Given the description of an element on the screen output the (x, y) to click on. 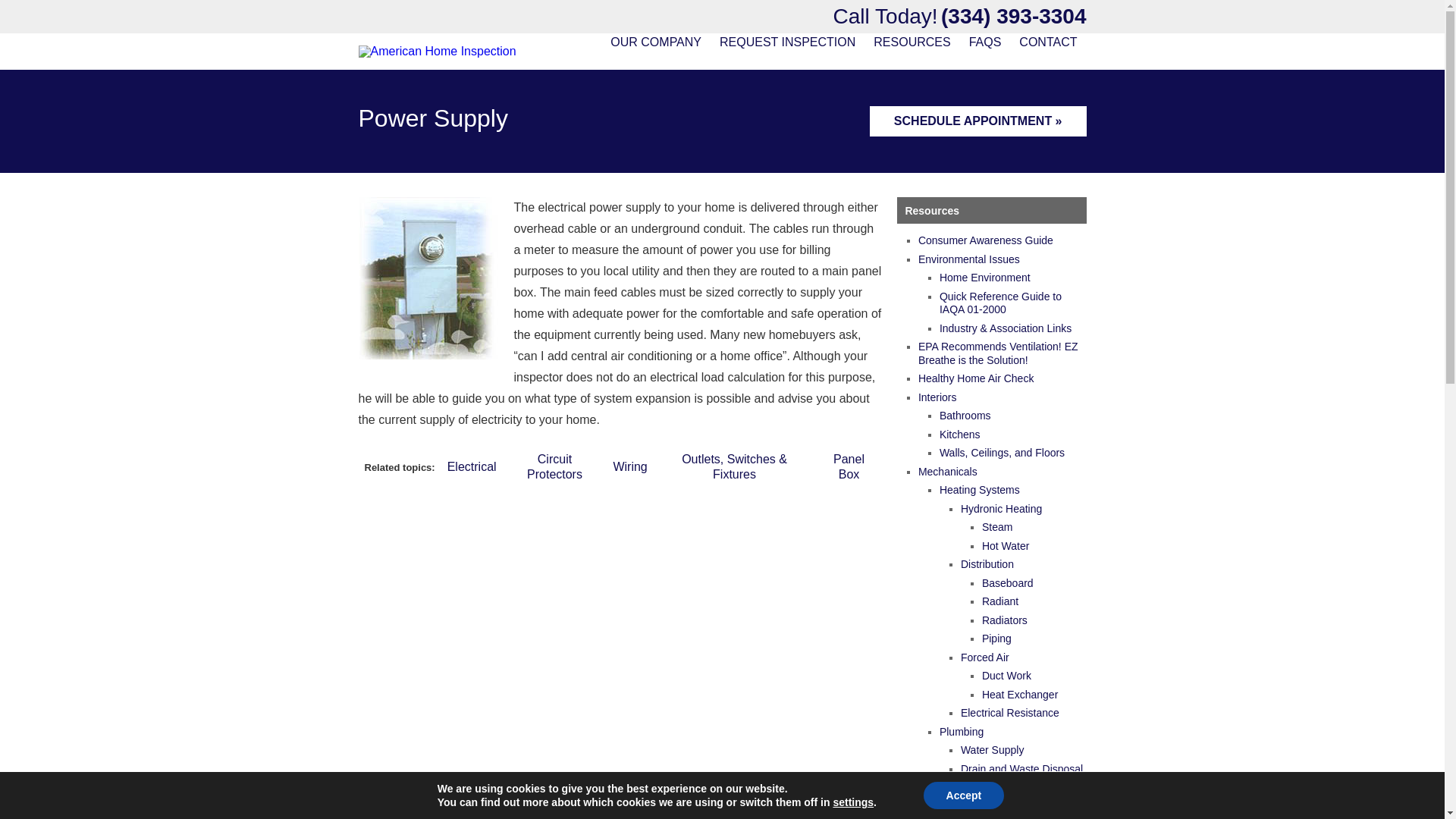
Panel Box (848, 466)
REQUEST INSPECTION (787, 42)
OUR COMPANY (655, 42)
FAQS (984, 42)
CONTACT (1048, 42)
Circuit Protectors (554, 466)
Wiring (629, 466)
Electrical (471, 466)
RESOURCES (911, 42)
Resources (931, 210)
